Given the description of an element on the screen output the (x, y) to click on. 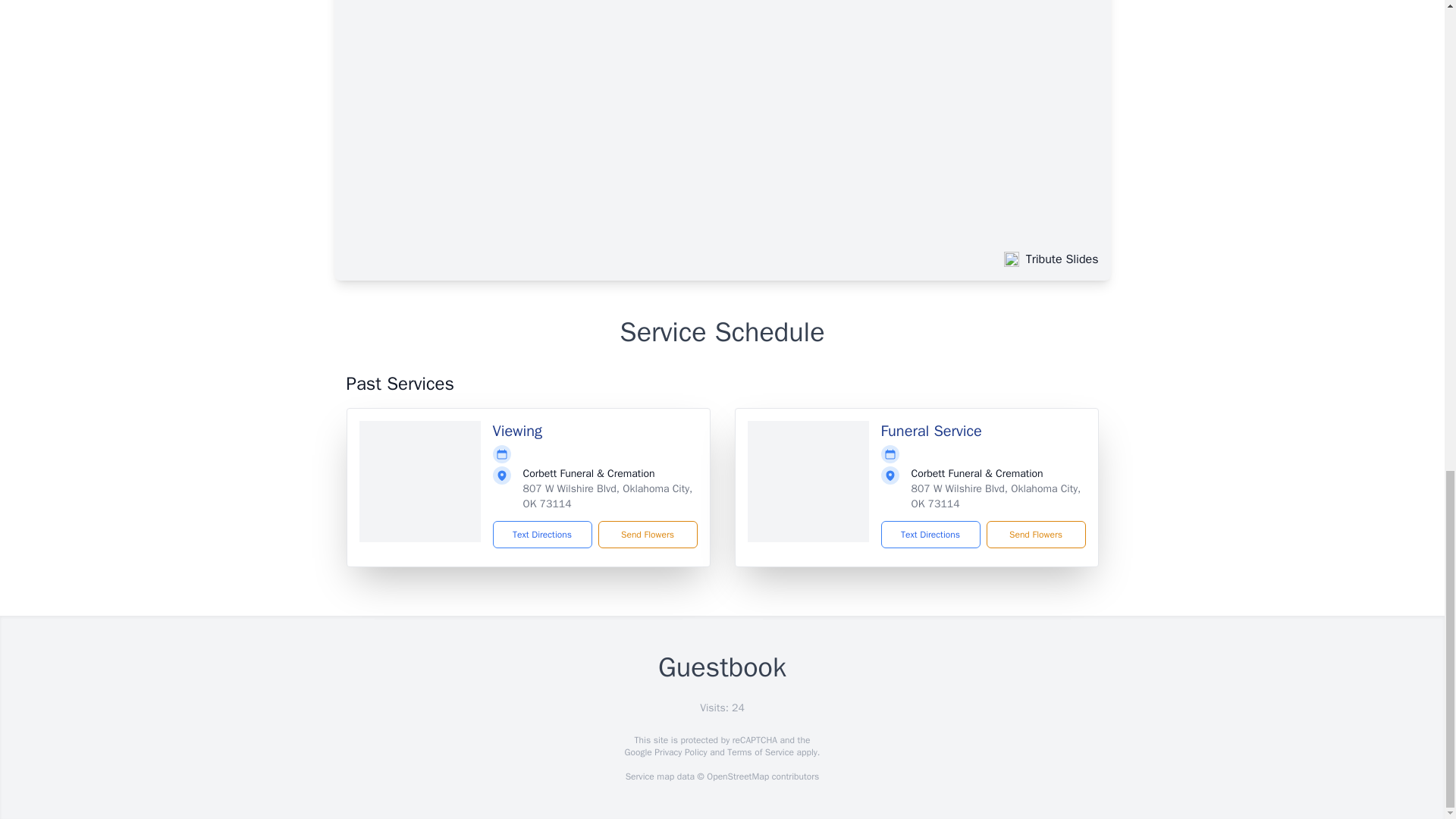
807 W Wilshire Blvd, Oklahoma City, OK 73114 (607, 496)
Privacy Policy (679, 752)
Terms of Service (759, 752)
Text Directions (929, 533)
Text Directions (542, 533)
Send Flowers (1034, 533)
Send Flowers (646, 533)
807 W Wilshire Blvd, Oklahoma City, OK 73114 (996, 496)
OpenStreetMap (737, 776)
